Given the description of an element on the screen output the (x, y) to click on. 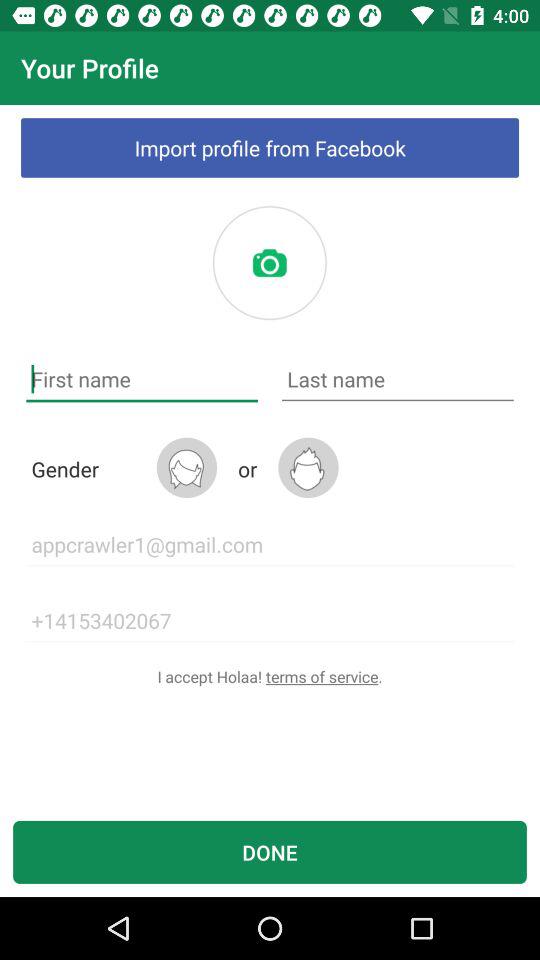
choose the item below your profile (270, 147)
